Given the description of an element on the screen output the (x, y) to click on. 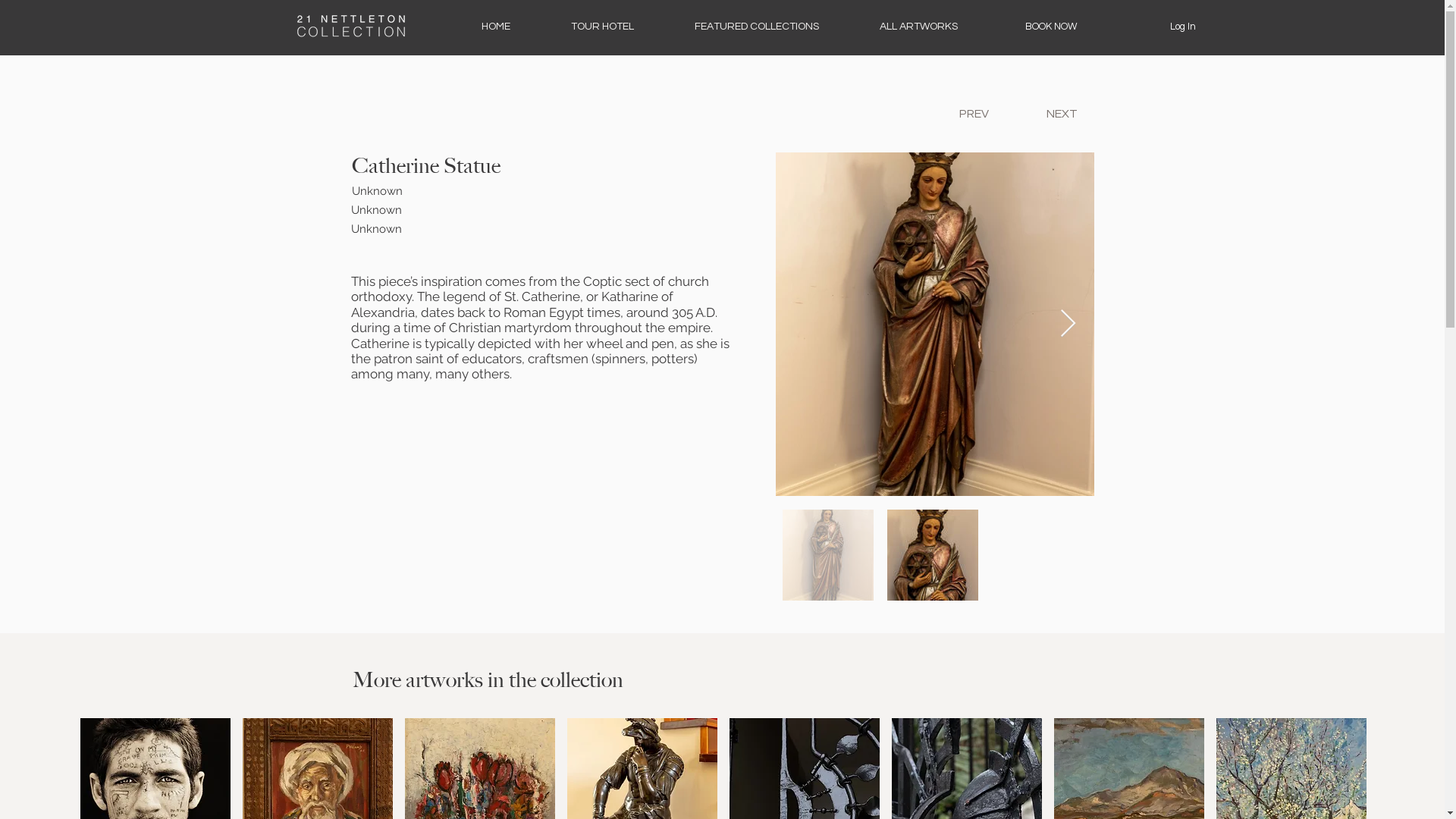
HOME Element type: text (494, 26)
Log In Element type: text (1181, 26)
TOUR HOTEL Element type: text (601, 26)
NEXT Element type: text (1061, 113)
ALL ARTWORKS Element type: text (918, 26)
BOOK NOW Element type: text (1050, 26)
FEATURED COLLECTIONS Element type: text (756, 26)
PREV Element type: text (973, 113)
